Given the description of an element on the screen output the (x, y) to click on. 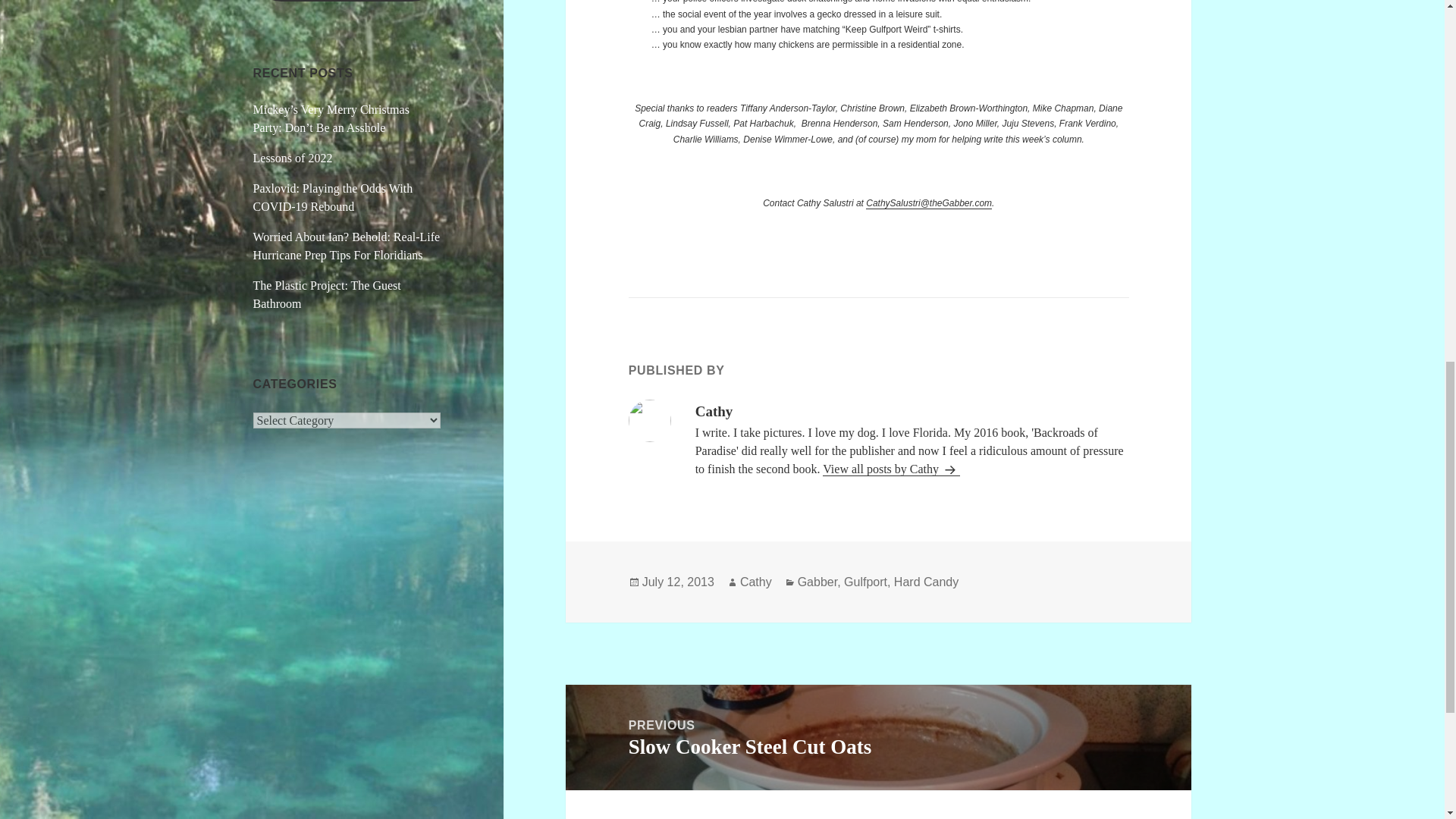
Gabber (817, 581)
Lessons of 2022 (293, 157)
Cathy (878, 805)
View all posts by Cathy (755, 581)
July 12, 2013 (878, 737)
Gulfport (890, 468)
Paxlovid: Playing the Odds With COVID-19 Rebound (678, 581)
Hard Candy (865, 581)
GET MY FLORIDA NEWSLETTER (333, 196)
The Plastic Project: The Guest Bathroom (925, 581)
